Given the description of an element on the screen output the (x, y) to click on. 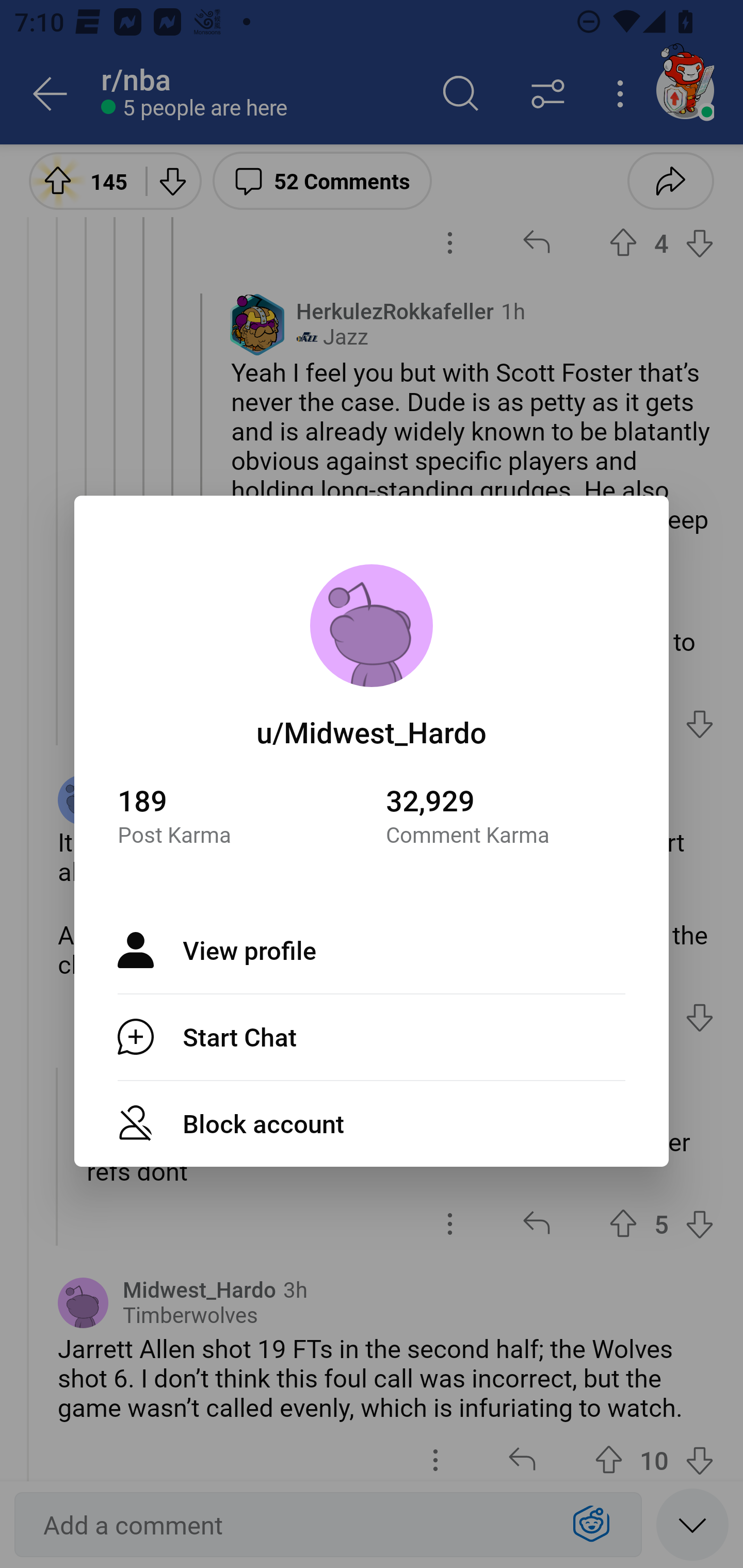
u/Midwest_Hardo (371, 731)
View profile (371, 950)
Start Chat (371, 1037)
Block account (371, 1123)
